Given the description of an element on the screen output the (x, y) to click on. 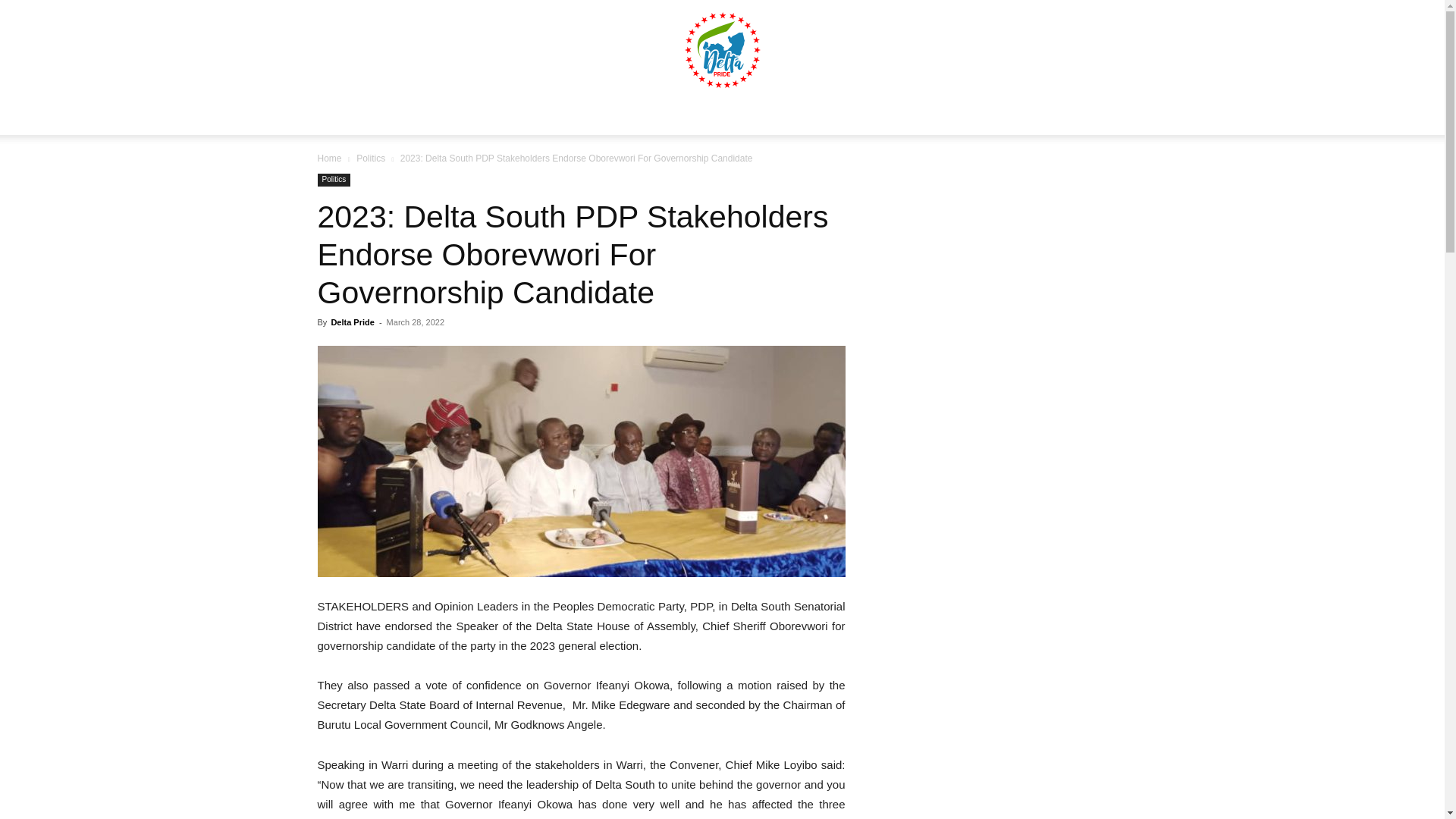
BUSINESS (630, 116)
ENTERTAINMENT (871, 116)
Delta Pride (352, 321)
IMG-20220328-WA0292 (580, 461)
Politics (370, 158)
HEALTH (700, 116)
View all posts in Politics (370, 158)
POLITICS (558, 116)
EDUCATION (773, 116)
Home (328, 158)
CULTURE (961, 116)
OPINION (1030, 116)
HOME (443, 116)
